Given the description of an element on the screen output the (x, y) to click on. 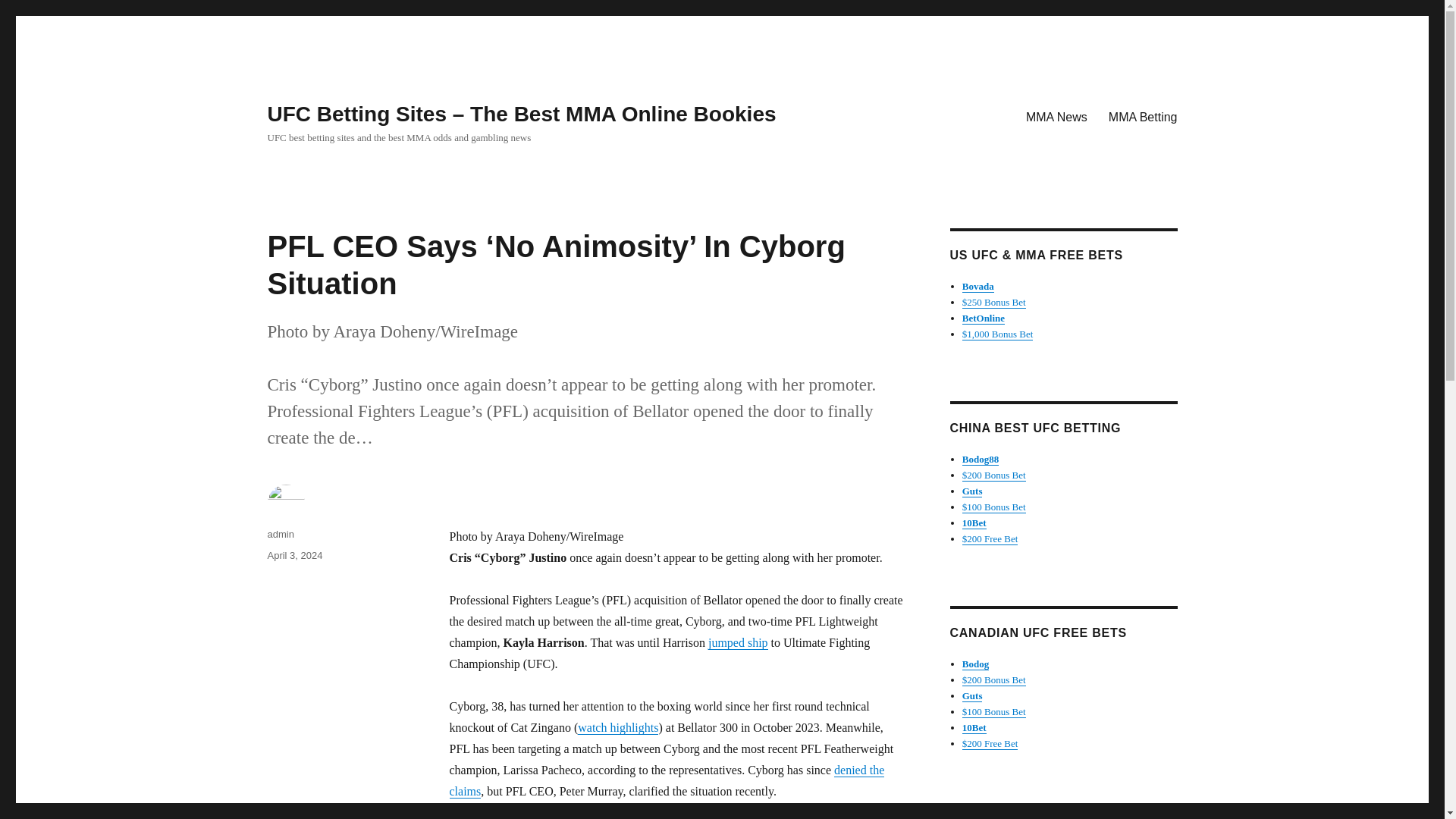
watch highlights (618, 727)
April 3, 2024 (293, 555)
jumped ship (737, 642)
Guts (972, 695)
10Bet (974, 727)
Guts (972, 490)
admin (280, 533)
MMA News (1055, 116)
denied the claims (665, 780)
10Bet (974, 522)
BetOnline (983, 317)
Bodog (975, 663)
Bodog88 (980, 459)
MMA Betting (1142, 116)
Bovada (978, 285)
